Given the description of an element on the screen output the (x, y) to click on. 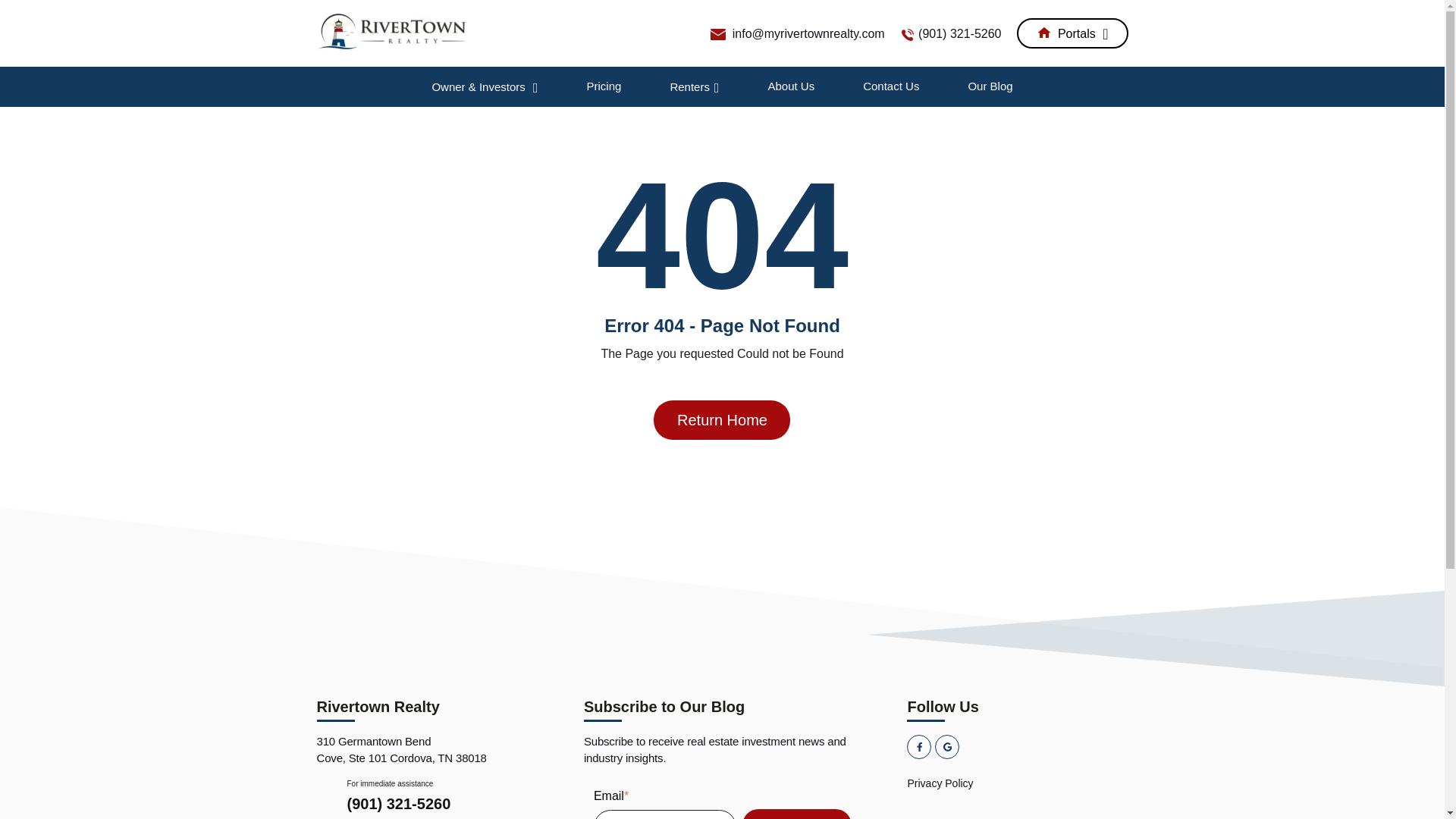
Renters (694, 85)
About Us (790, 85)
Our Blog (989, 85)
Subscribe (796, 814)
Privacy Policy (1016, 782)
Subscribe (796, 814)
rivertown-web-logo-01 (392, 30)
Portals (1071, 33)
Return Home (721, 419)
Contact Us (890, 85)
